Given the description of an element on the screen output the (x, y) to click on. 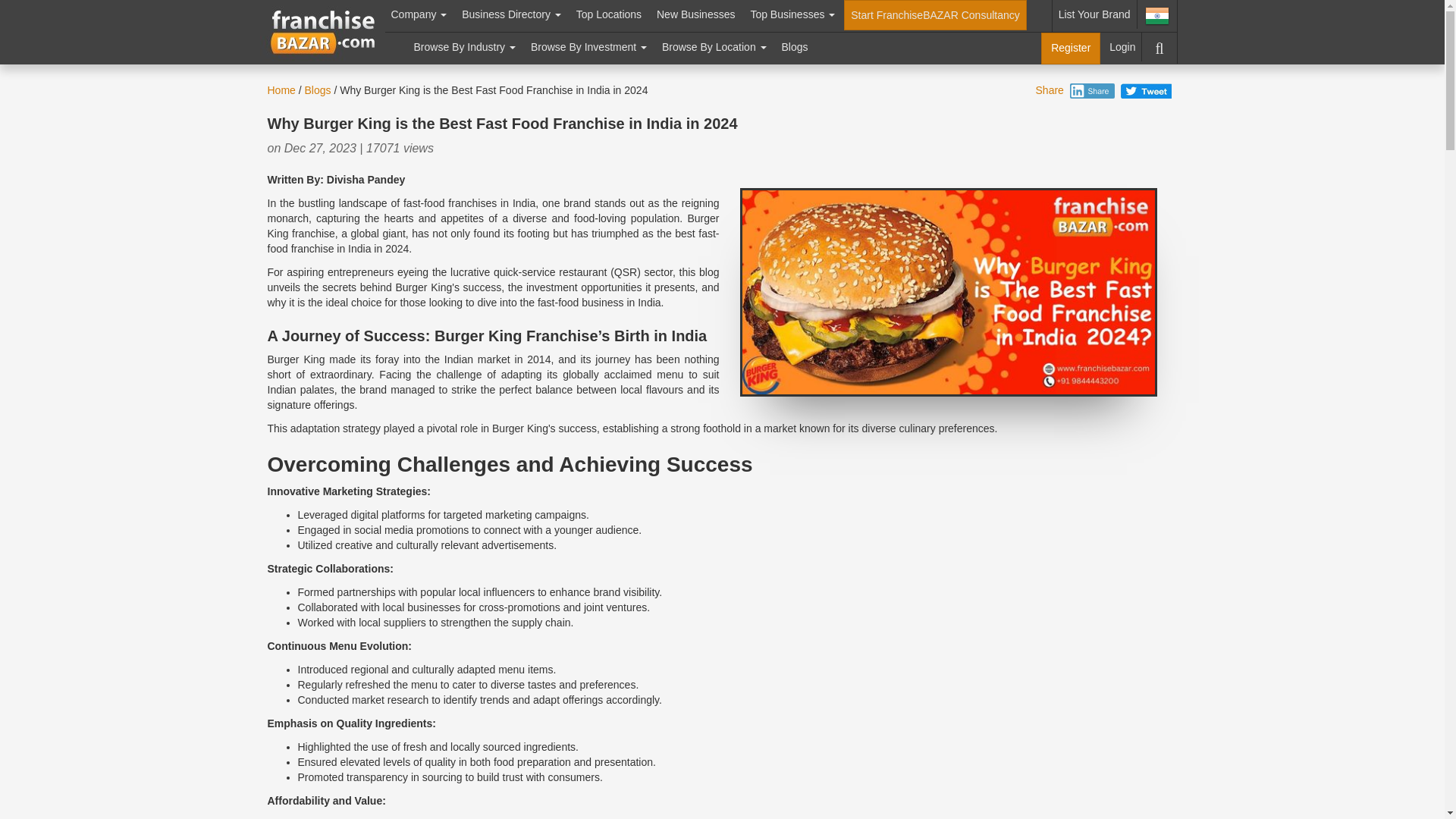
Business Directory (511, 14)
New Businesses (695, 14)
List Your Brand (1094, 14)
Start FranchiseBAZAR Consultancy (935, 15)
Top Businesses (792, 14)
Top Locations (608, 14)
Company (418, 14)
